Given the description of an element on the screen output the (x, y) to click on. 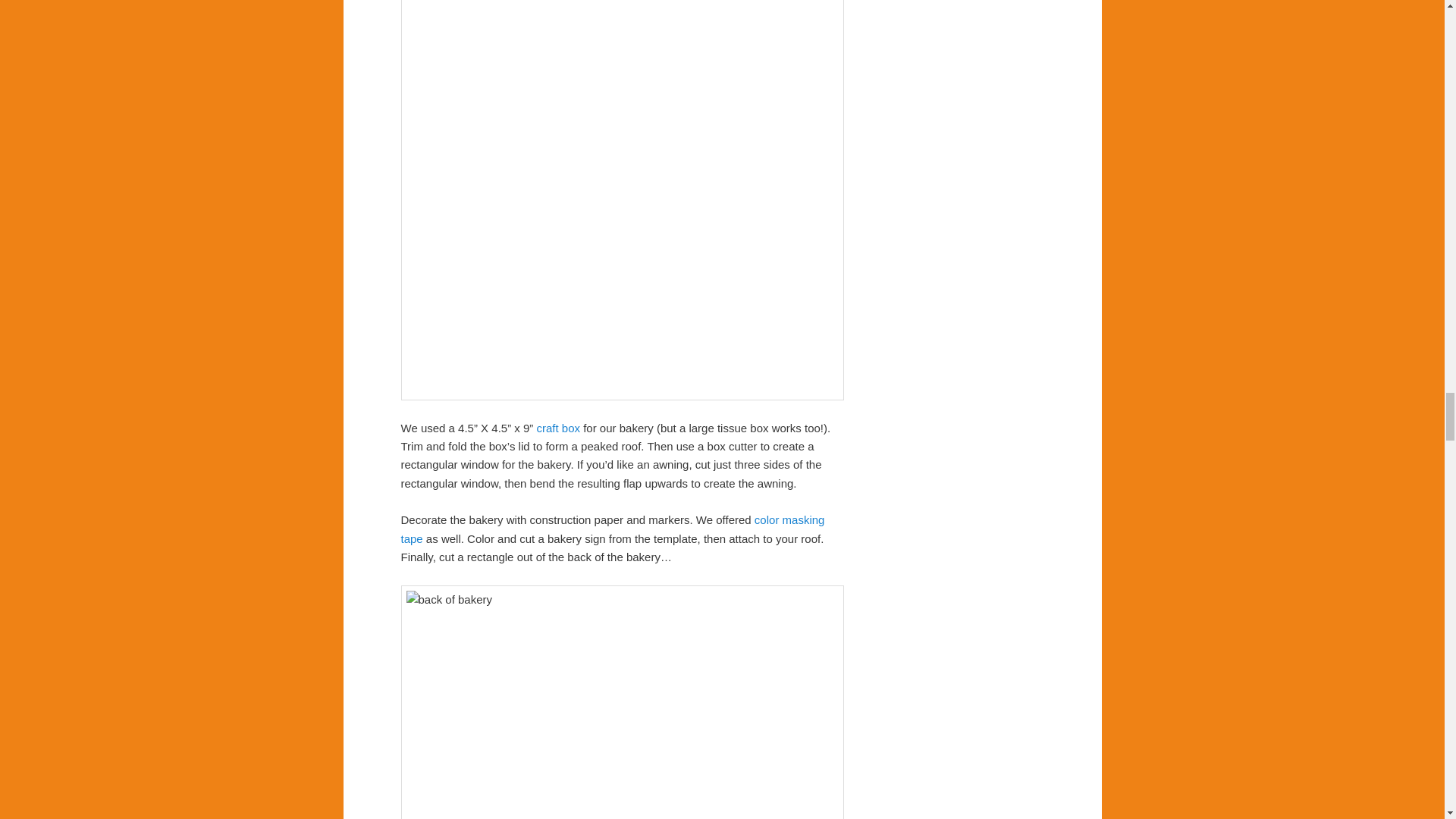
color masking tape (612, 528)
